Given the description of an element on the screen output the (x, y) to click on. 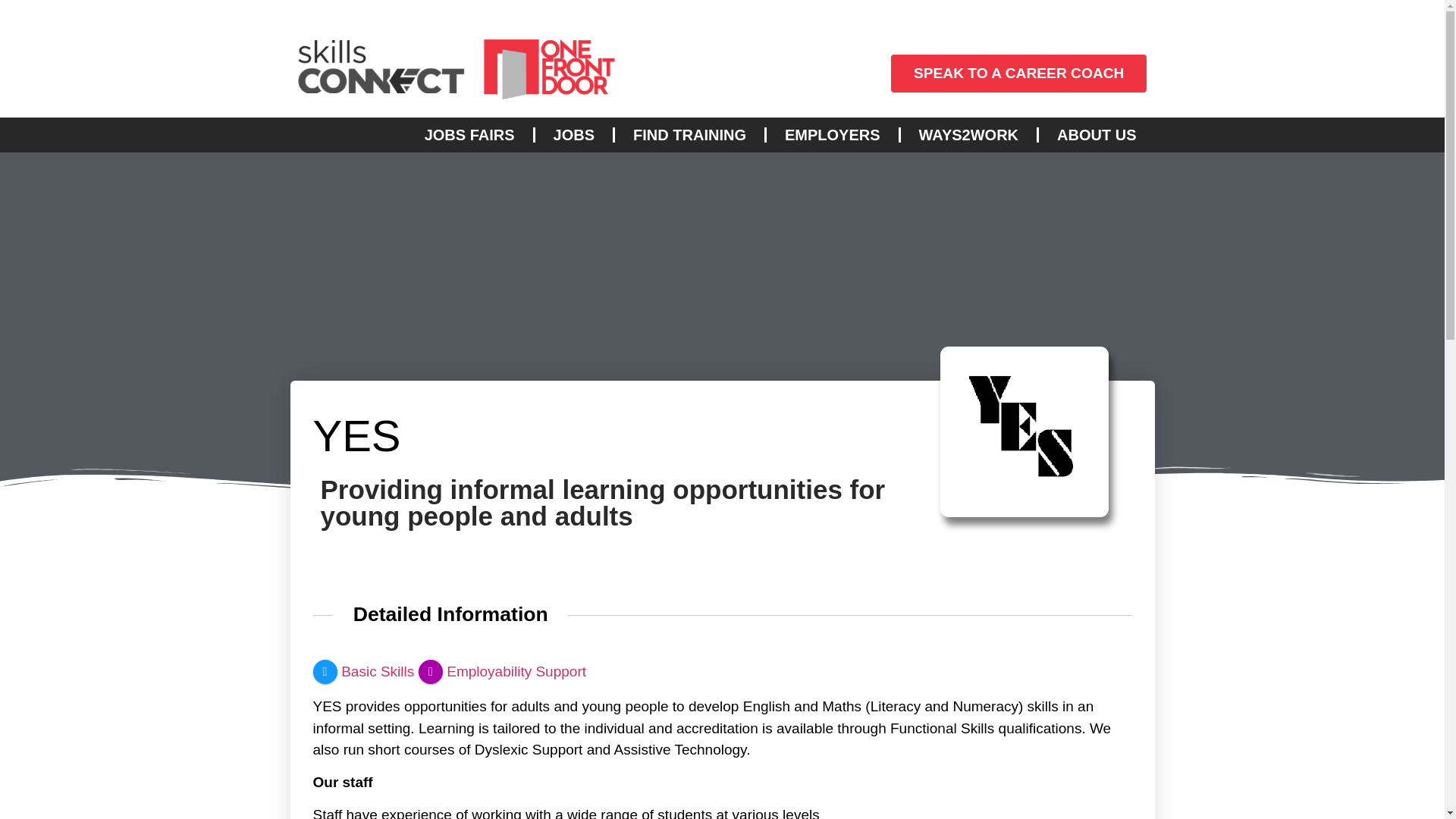
Employability Support (502, 670)
FIND TRAINING (689, 134)
SPEAK TO A CAREER COACH (1019, 72)
EMPLOYERS (832, 134)
JOBS FAIRS (469, 134)
WAYS2WORK (968, 134)
ABOUT US (1096, 134)
Employability Support (502, 670)
Basic Skills (363, 670)
Basic Skills (363, 670)
